Given the description of an element on the screen output the (x, y) to click on. 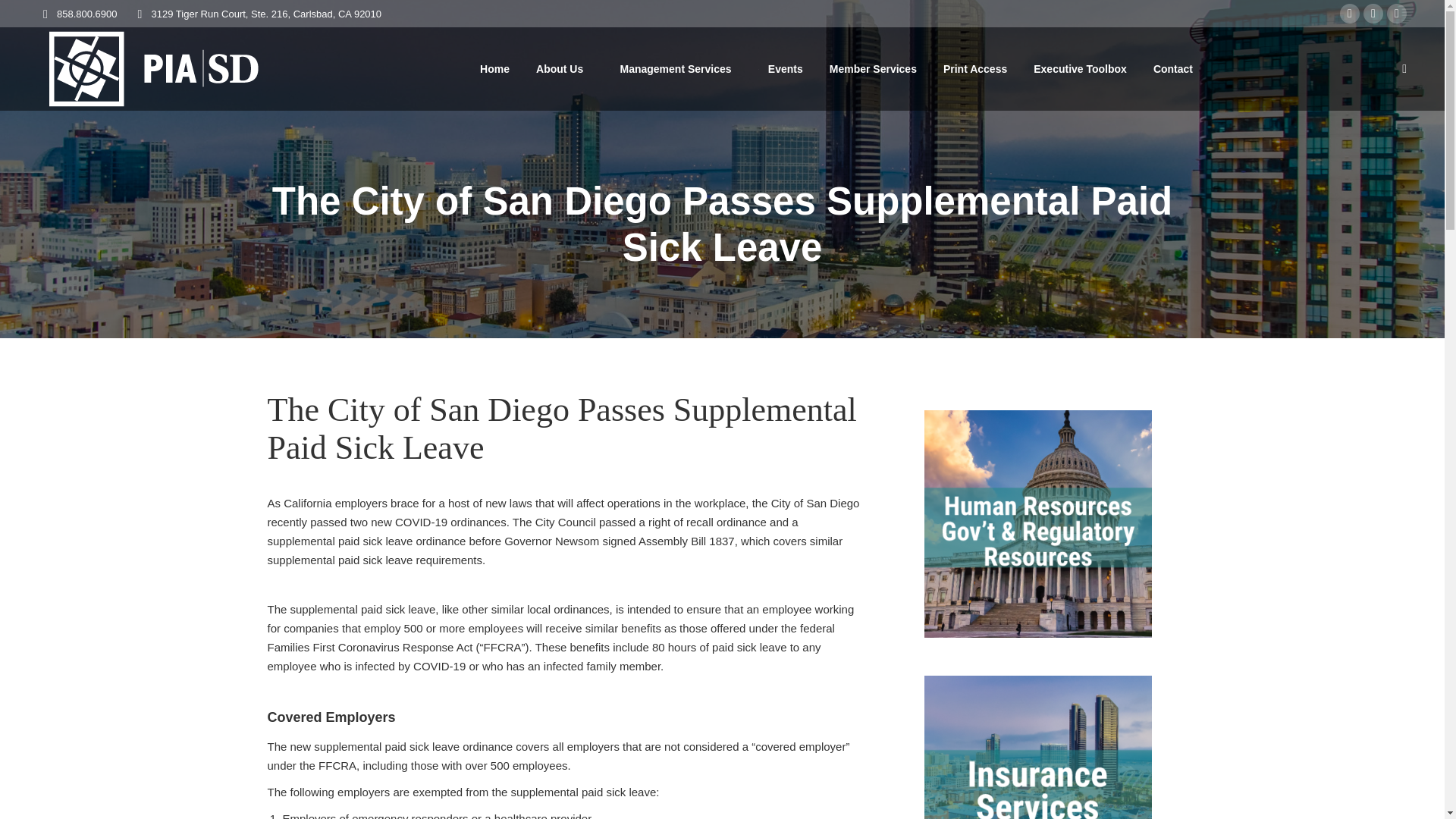
Facebook page opens in new window (1349, 13)
X page opens in new window (1372, 13)
Linkedin page opens in new window (1396, 13)
Linkedin page opens in new window (1396, 13)
insurance-services (1037, 747)
Management Services (670, 68)
Member Services (872, 68)
Executive Toolbox (1079, 68)
About Us (558, 68)
Facebook page opens in new window (1349, 13)
X page opens in new window (1372, 13)
Print Access (974, 68)
Events (780, 68)
